Given the description of an element on the screen output the (x, y) to click on. 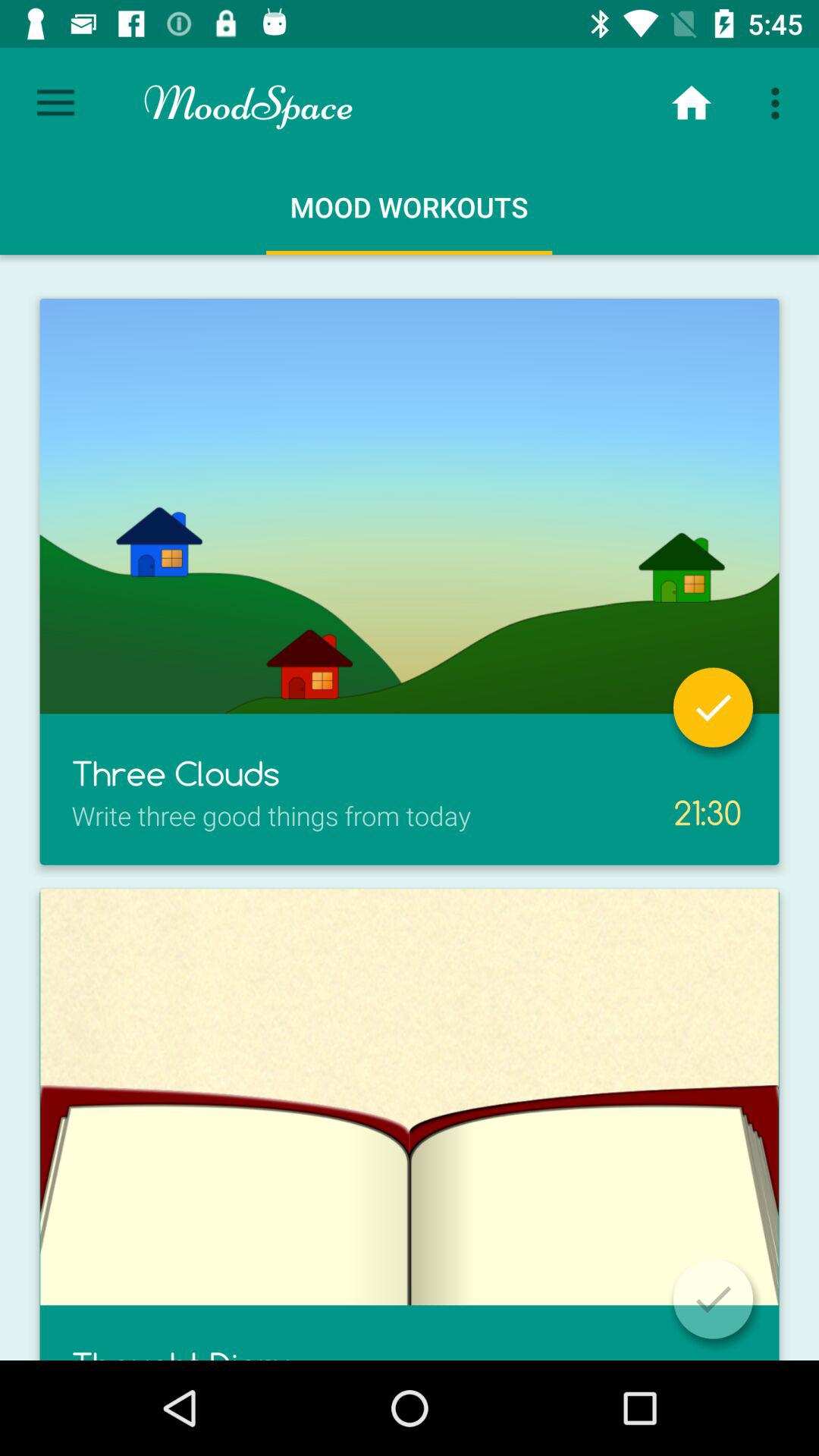
finish the workout (713, 1298)
